Given the description of an element on the screen output the (x, y) to click on. 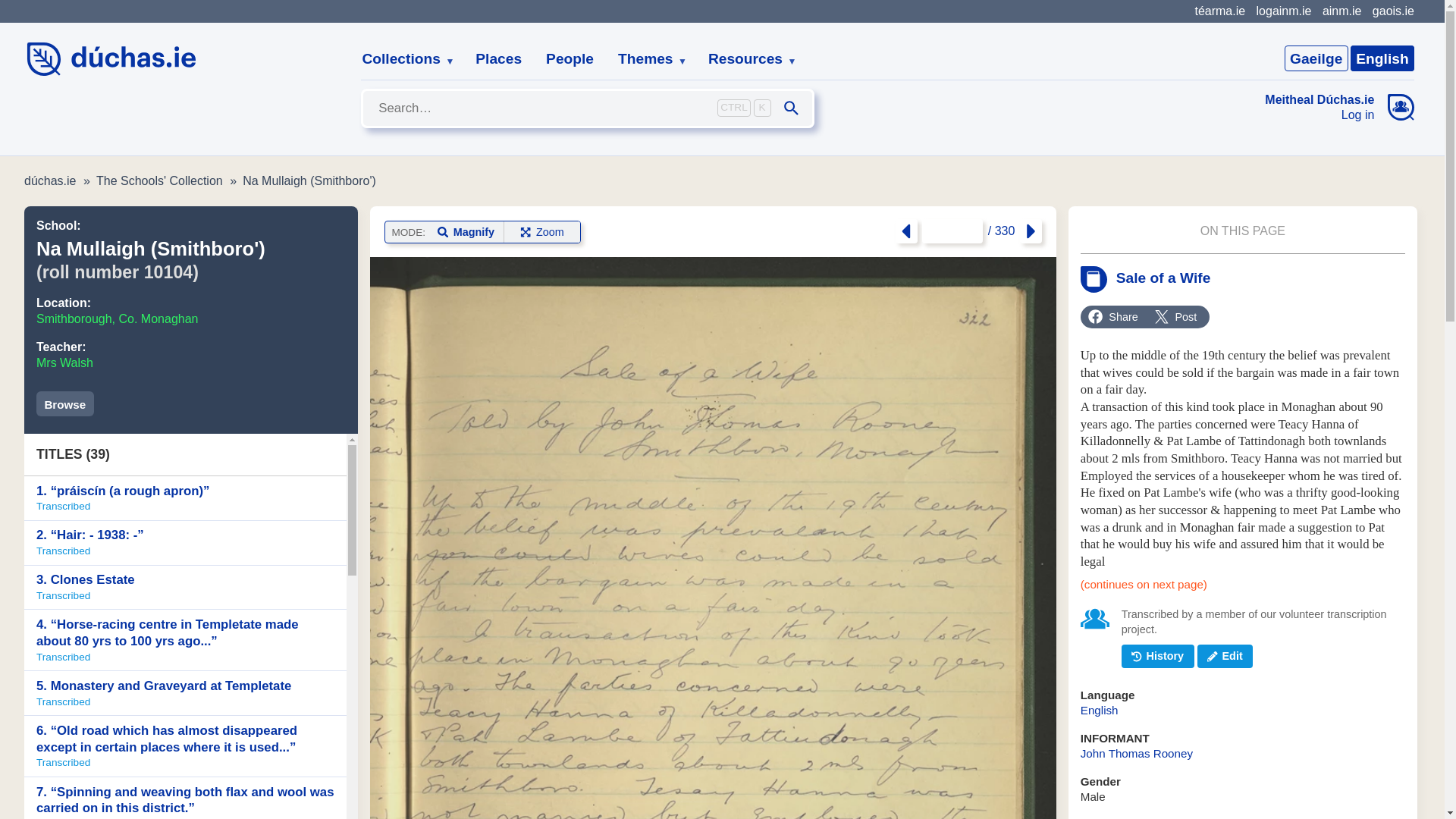
Resources (745, 59)
ainm.ie (1341, 11)
Log in (1319, 114)
Gaeilge (1316, 58)
Smithborough, Co. Monaghan (117, 318)
Places (498, 58)
English (1382, 58)
Mrs Walsh (64, 362)
Browse (65, 403)
Themes (646, 59)
